Given the description of an element on the screen output the (x, y) to click on. 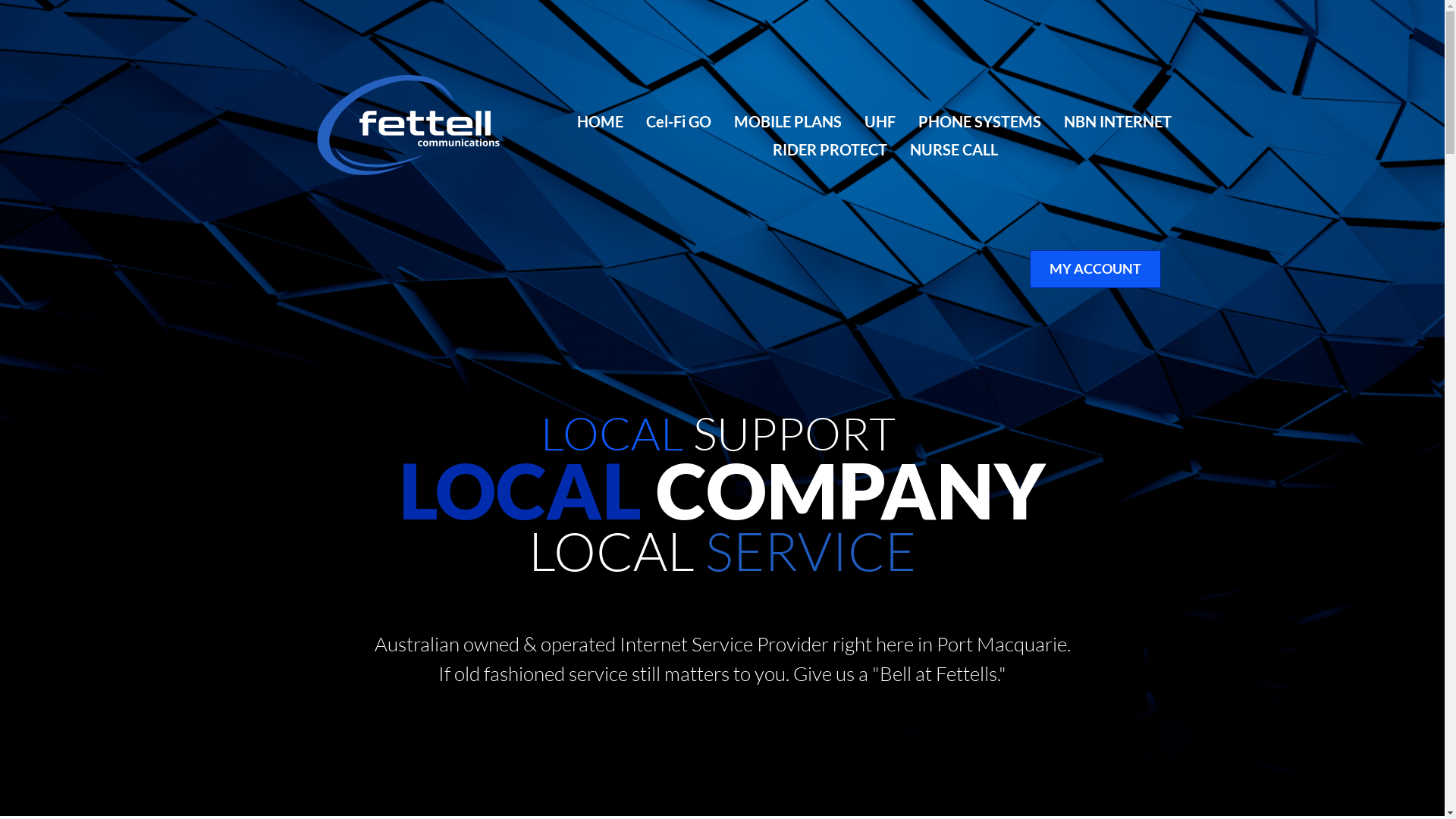
PHONE SYSTEMS Element type: text (978, 121)
MY ACCOUNT Element type: text (1095, 269)
HOME Element type: text (599, 121)
NBN INTERNET Element type: text (1116, 121)
RIDER PROTECT Element type: text (829, 150)
UHF Element type: text (879, 121)
NURSE CALL Element type: text (953, 150)
MOBILE PLANS Element type: text (787, 121)
Cel-Fi GO Element type: text (678, 121)
